Given the description of an element on the screen output the (x, y) to click on. 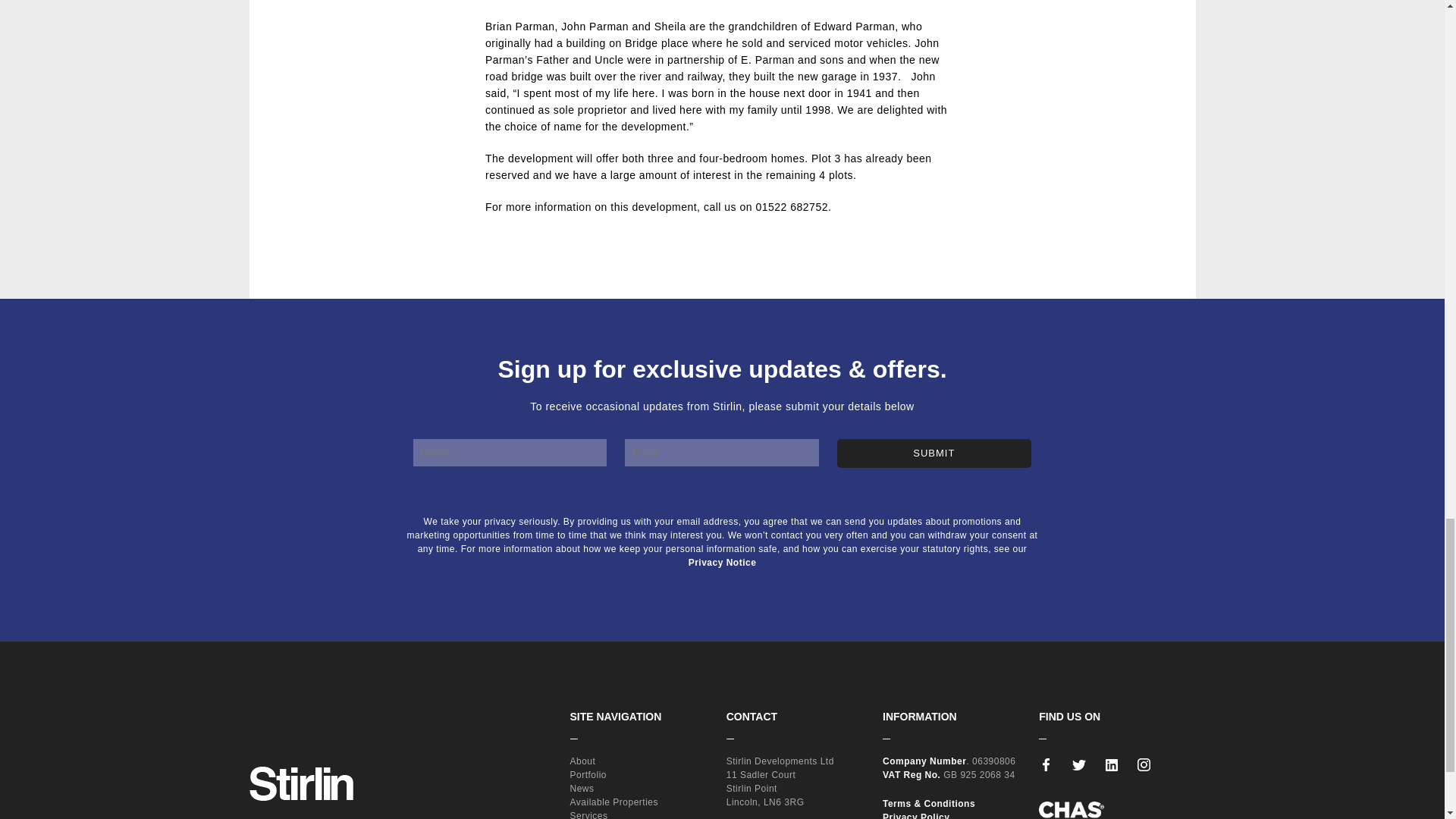
About (582, 760)
Submit (933, 452)
Privacy Notice (722, 562)
News (582, 787)
Submit (933, 452)
Portfolio (588, 774)
